Given the description of an element on the screen output the (x, y) to click on. 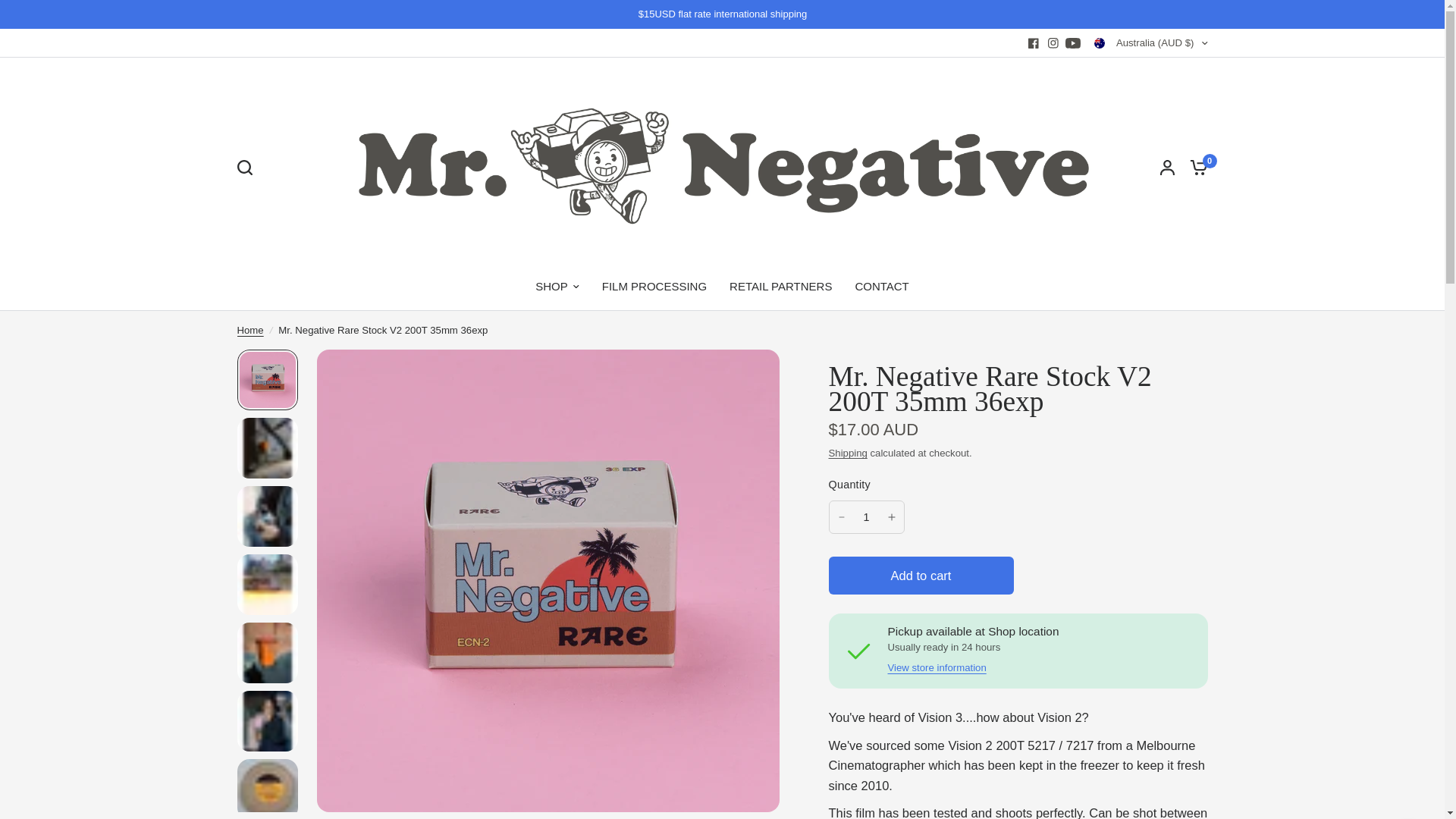
Search (247, 167)
Facebook (1033, 43)
SHOP (557, 286)
YouTube (1072, 43)
Instagram (1052, 43)
